Given the description of an element on the screen output the (x, y) to click on. 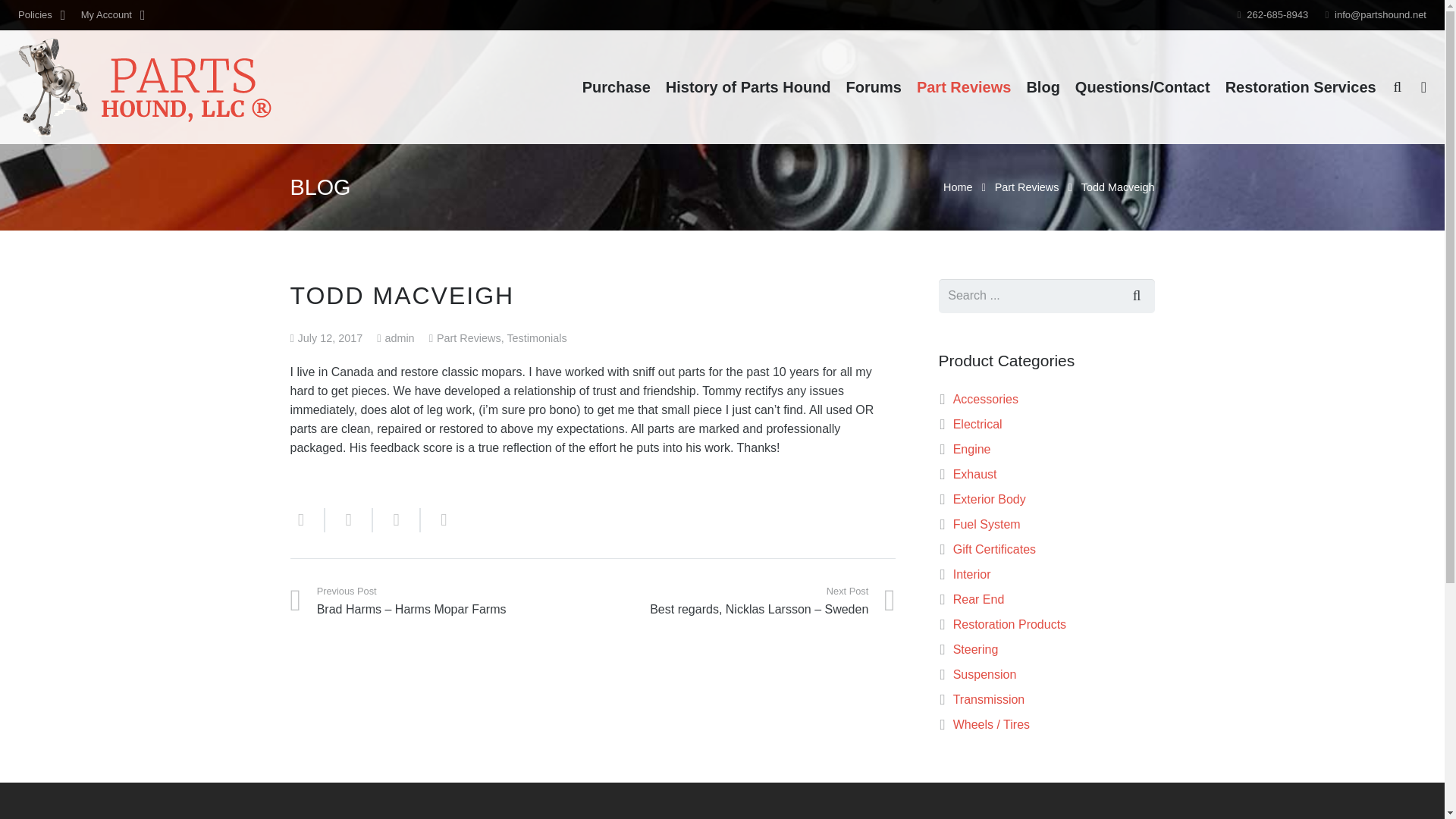
Electrical (978, 423)
Exterior Body (989, 499)
My Account (112, 14)
admin (398, 337)
Testimonials (536, 337)
Restoration Services (1300, 86)
History of Parts Hound (748, 86)
Tweet this (396, 519)
Policies (41, 14)
Part Reviews (468, 337)
Fuel System (986, 523)
Email this (306, 519)
Home (957, 186)
Exhaust (975, 473)
Forums (873, 86)
